Given the description of an element on the screen output the (x, y) to click on. 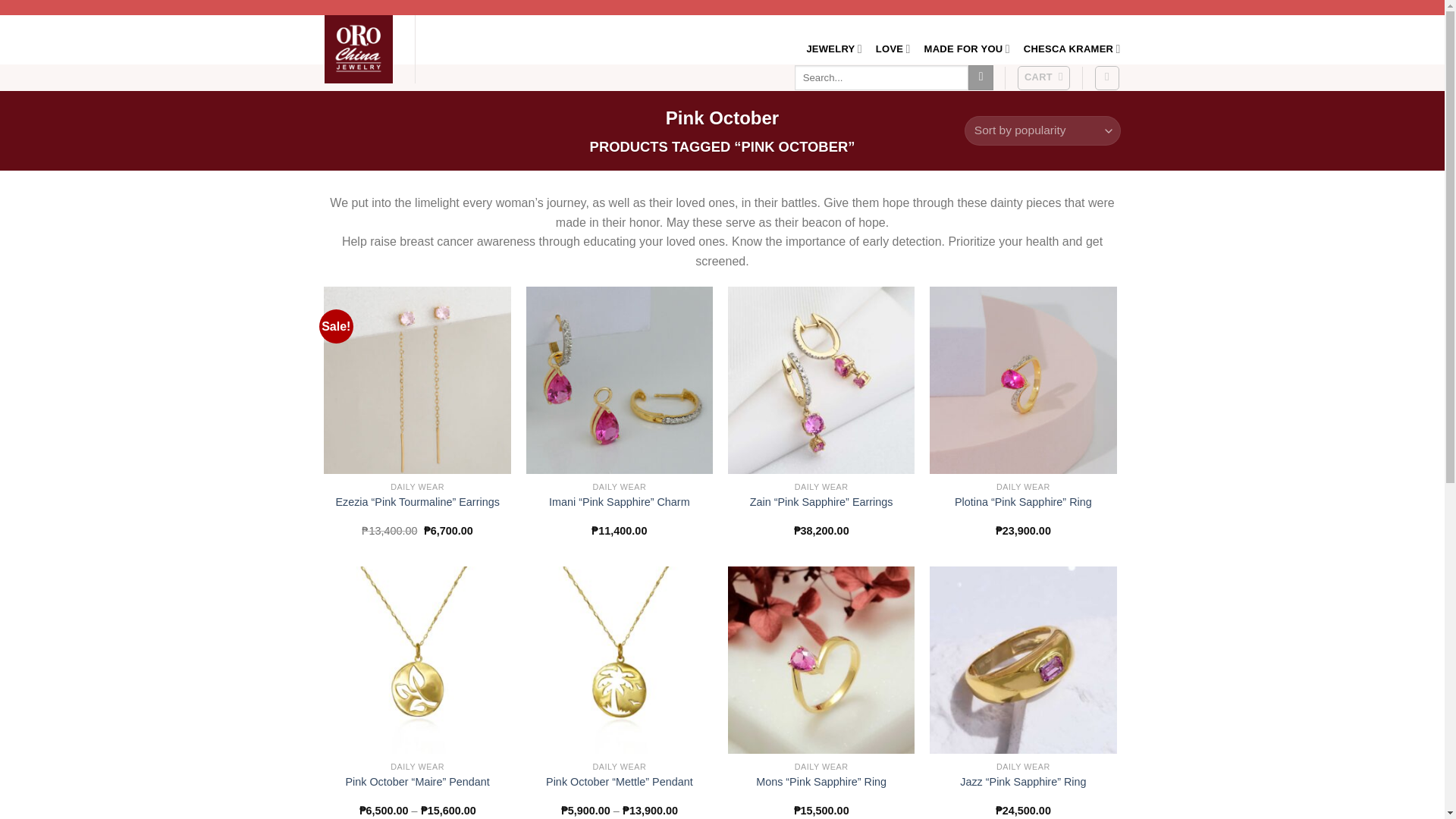
Oro China Jewelry - Philippine's Best Gold Jewelry (361, 49)
JEWELRY (833, 48)
LOVE (893, 48)
MADE FOR YOU (967, 48)
Login (1106, 77)
Cart (1043, 77)
